Given the description of an element on the screen output the (x, y) to click on. 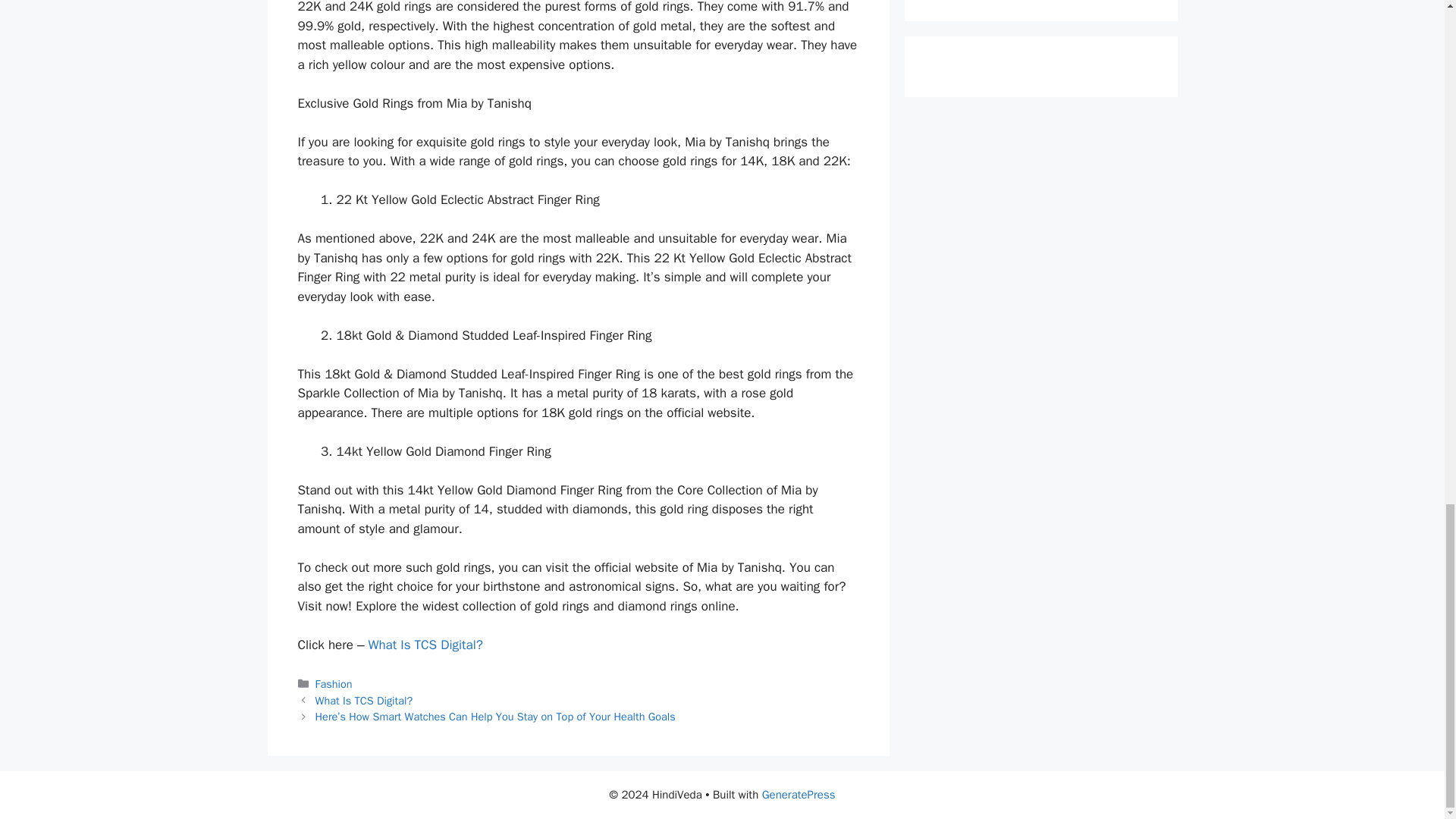
Fashion (333, 684)
What Is TCS Digital? (364, 700)
What Is TCS Digital? (424, 644)
